Given the description of an element on the screen output the (x, y) to click on. 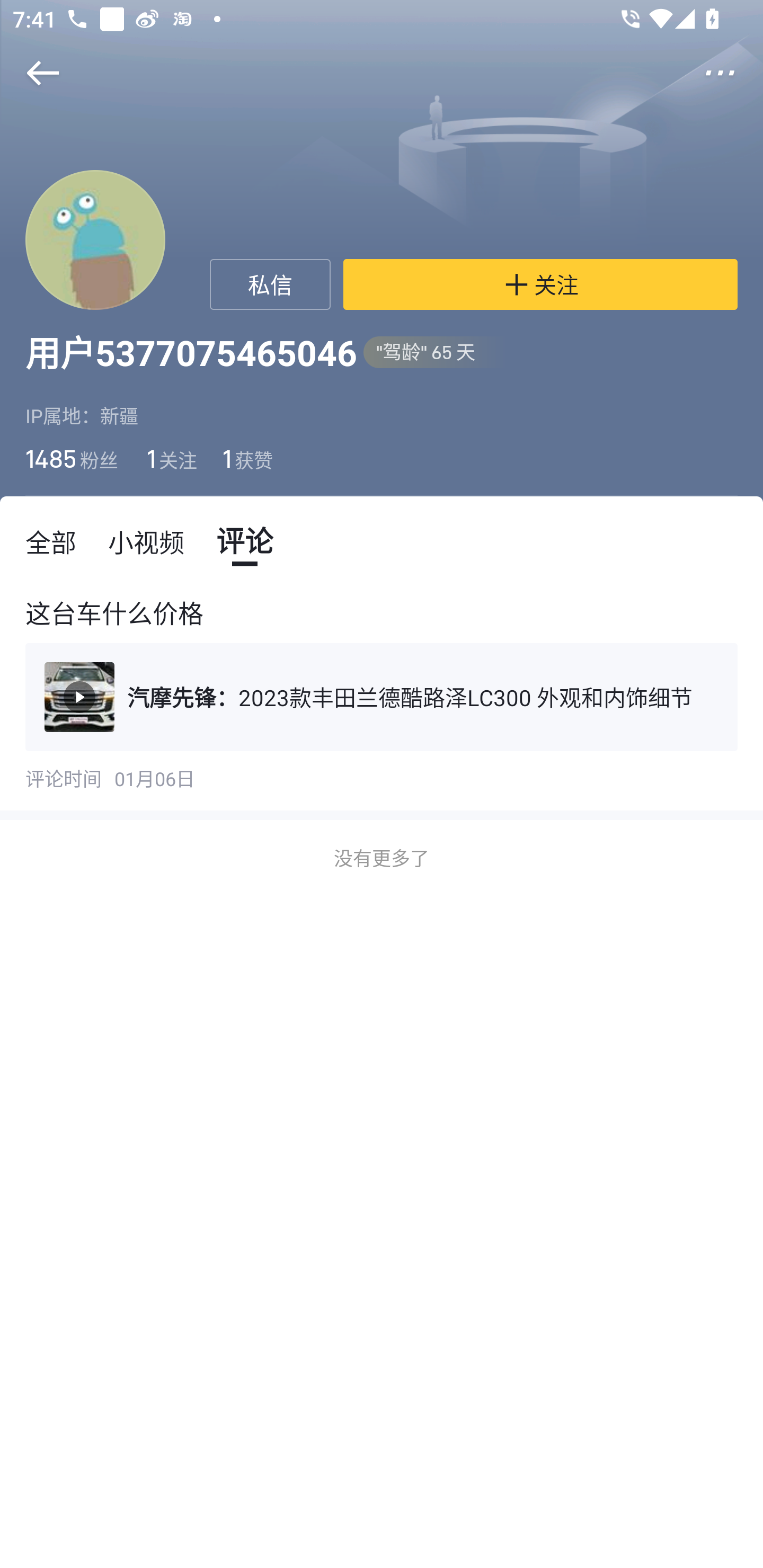
 (30, 72)
 (732, 72)
私信 (269, 284)
 关注 (540, 284)
"驾龄" 65 天 (435, 352)
1485 粉丝 (71, 458)
1 关注 (169, 458)
1 获赞 (247, 458)
全部 (50, 540)
小视频 (146, 540)
评论 (244, 540)
这台车什么价格 汽摩先锋：2023款丰田兰德酷路泽LC300 外观和内饰细节 评论时间 01月06日 (381, 696)
